Given the description of an element on the screen output the (x, y) to click on. 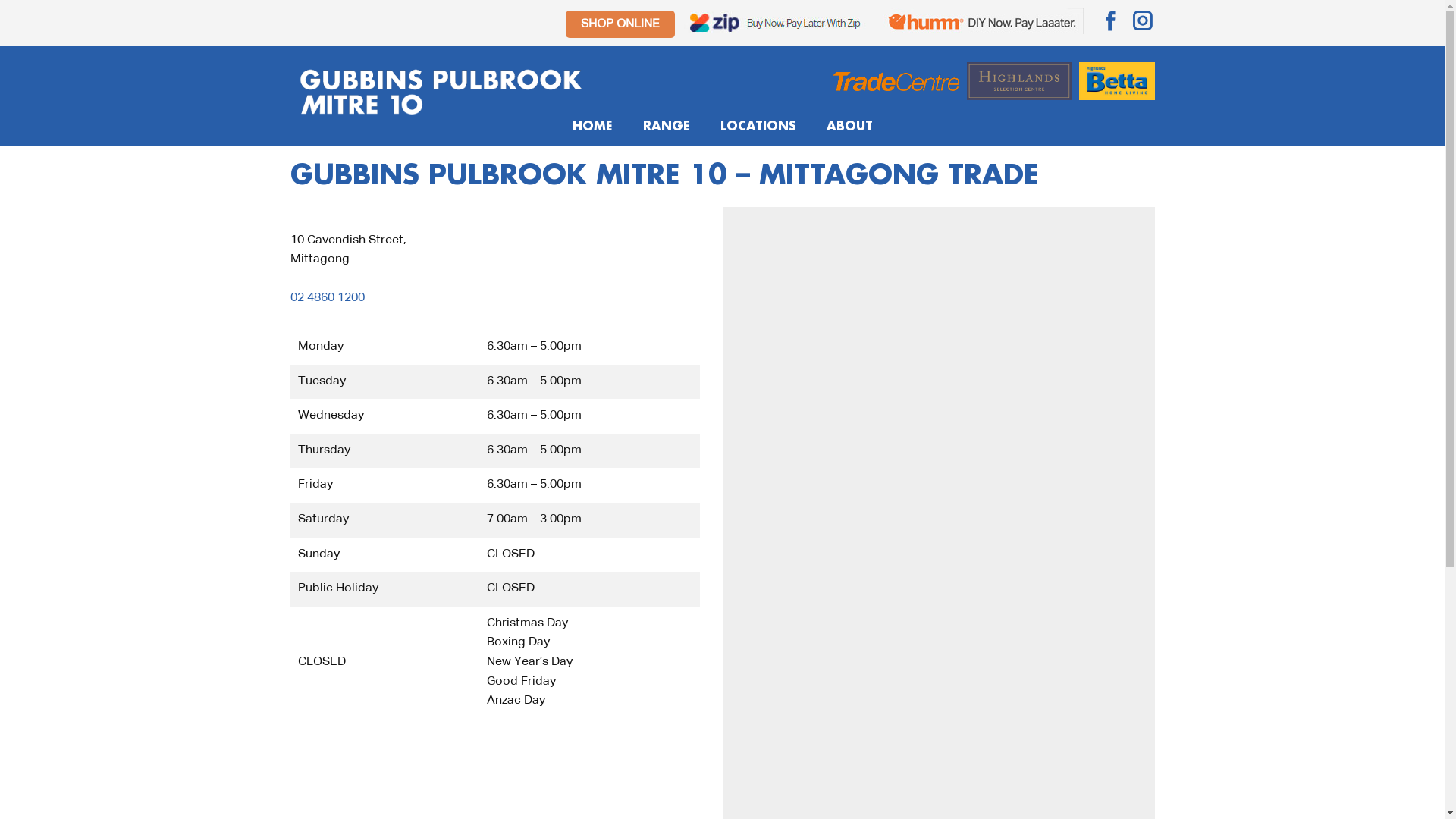
RANGE Element type: text (666, 127)
LOCATIONS Element type: text (758, 127)
facebook Element type: hover (1110, 20)
instagram Element type: hover (1141, 20)
ABOUT Element type: text (849, 127)
HOME Element type: text (591, 127)
02 4860 1200 Element type: text (326, 306)
SHOP ONLINE Element type: text (619, 23)
